Given the description of an element on the screen output the (x, y) to click on. 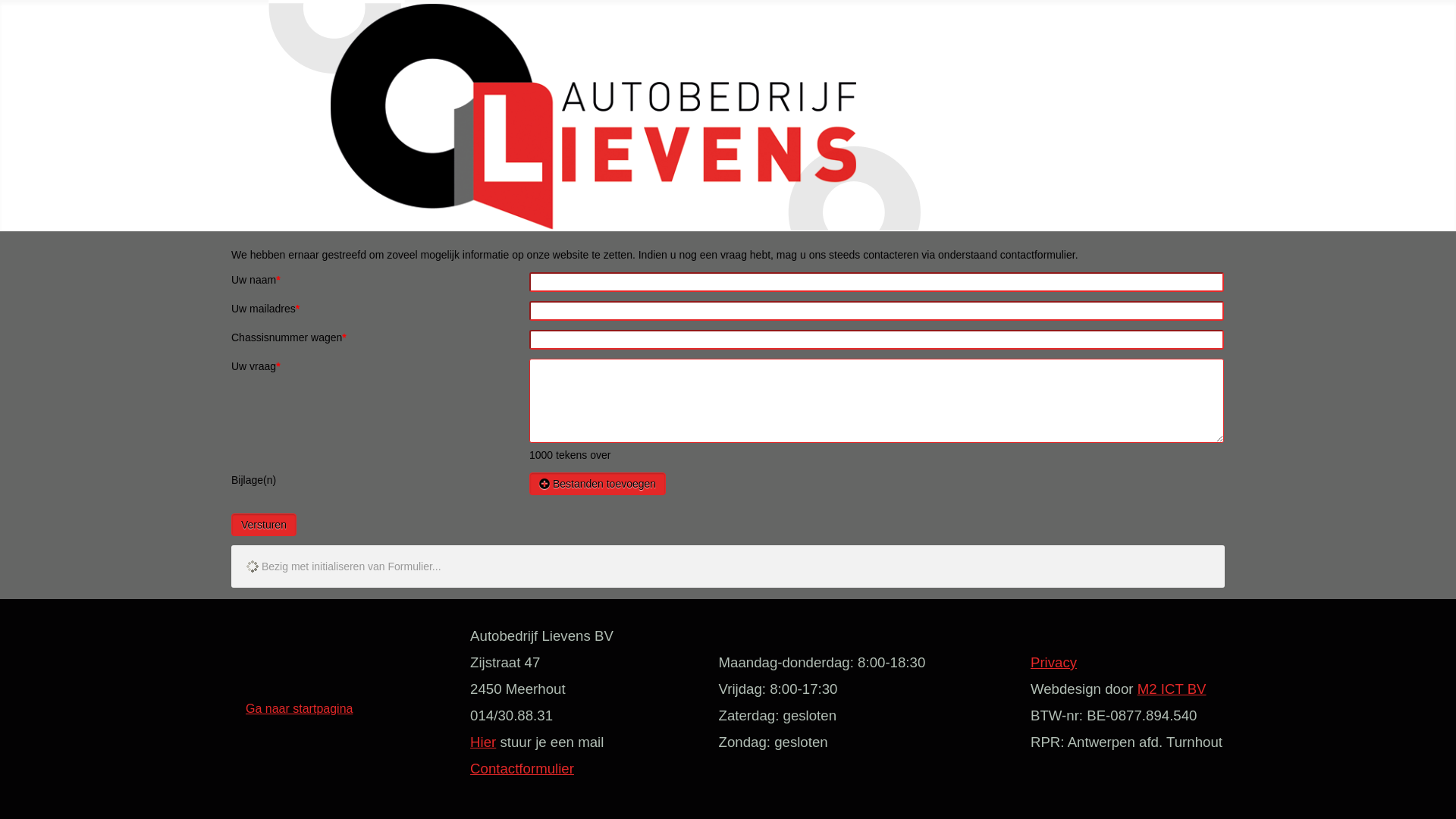
Privacy Element type: text (1053, 662)
Hier Element type: text (482, 741)
Ga naar startpagina Element type: text (298, 708)
Contactformulier Element type: text (522, 768)
M2 ICT BV Element type: text (1171, 689)
Versturen Element type: text (263, 524)
